Given the description of an element on the screen output the (x, y) to click on. 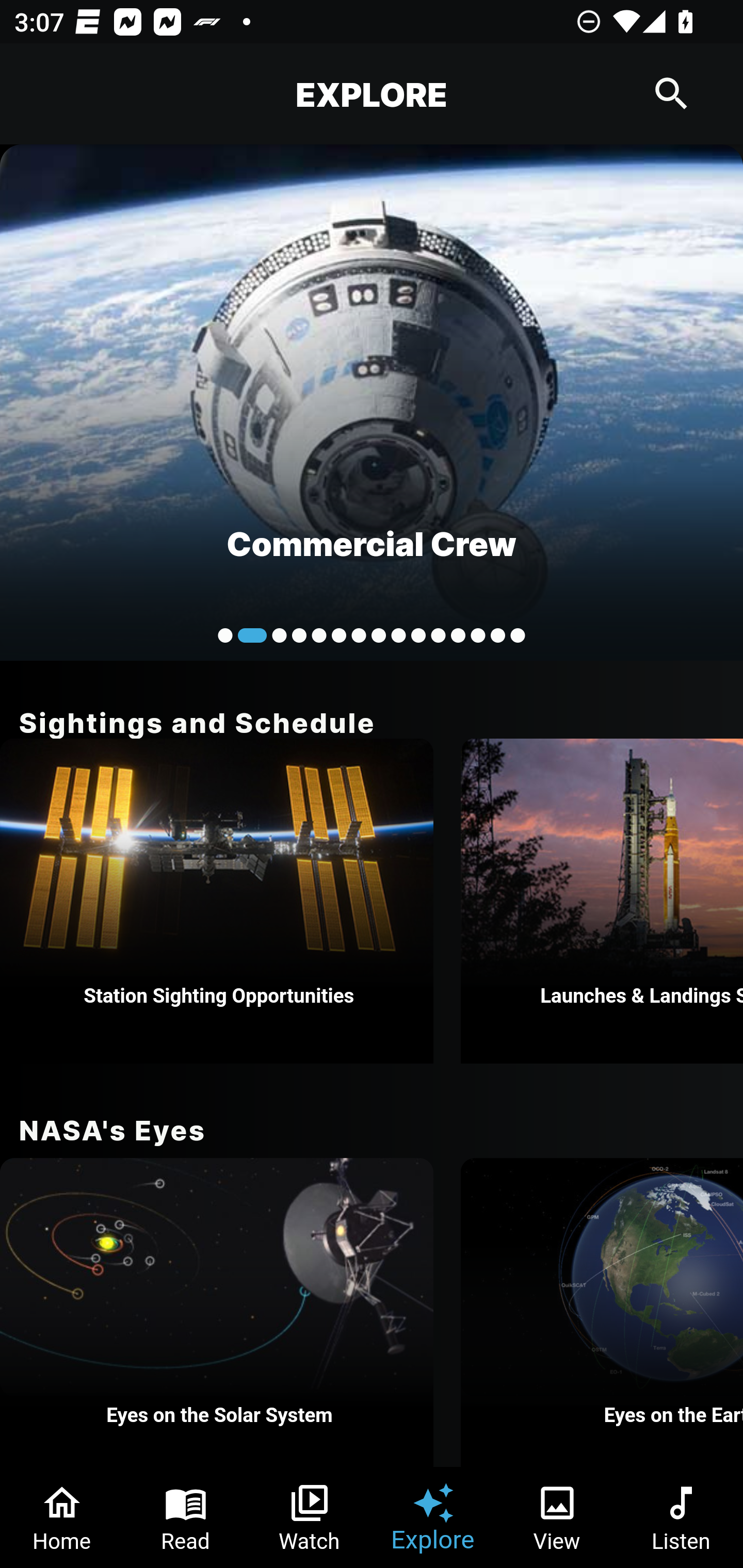
Commercial Crew
Hello World (371, 402)
Station Sighting Opportunities (216, 900)
Launches & Landings Schedule (601, 900)
Eyes on the Solar System (216, 1312)
Eyes on the Earth (601, 1312)
Home
Tab 1 of 6 (62, 1517)
Read
Tab 2 of 6 (185, 1517)
Watch
Tab 3 of 6 (309, 1517)
Explore
Tab 4 of 6 (433, 1517)
View
Tab 5 of 6 (556, 1517)
Listen
Tab 6 of 6 (680, 1517)
